Given the description of an element on the screen output the (x, y) to click on. 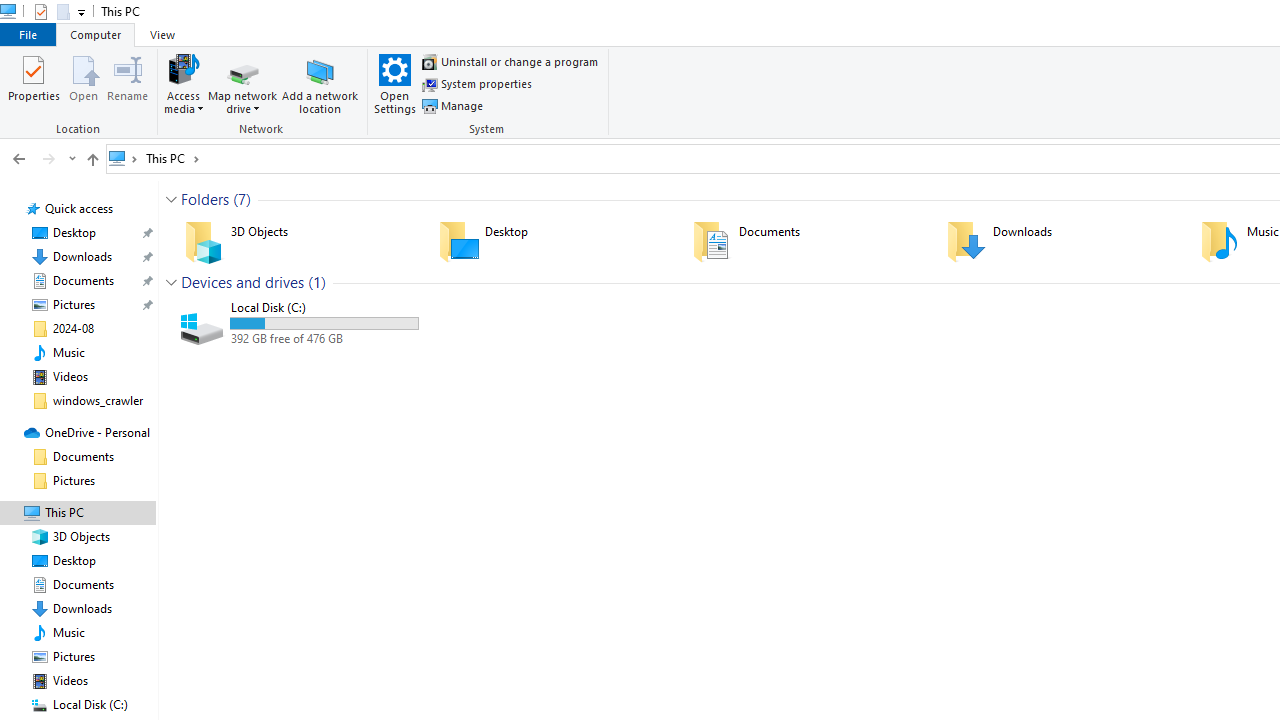
Uninstall or change a program (509, 61)
2024-08 (73, 328)
